Given the description of an element on the screen output the (x, y) to click on. 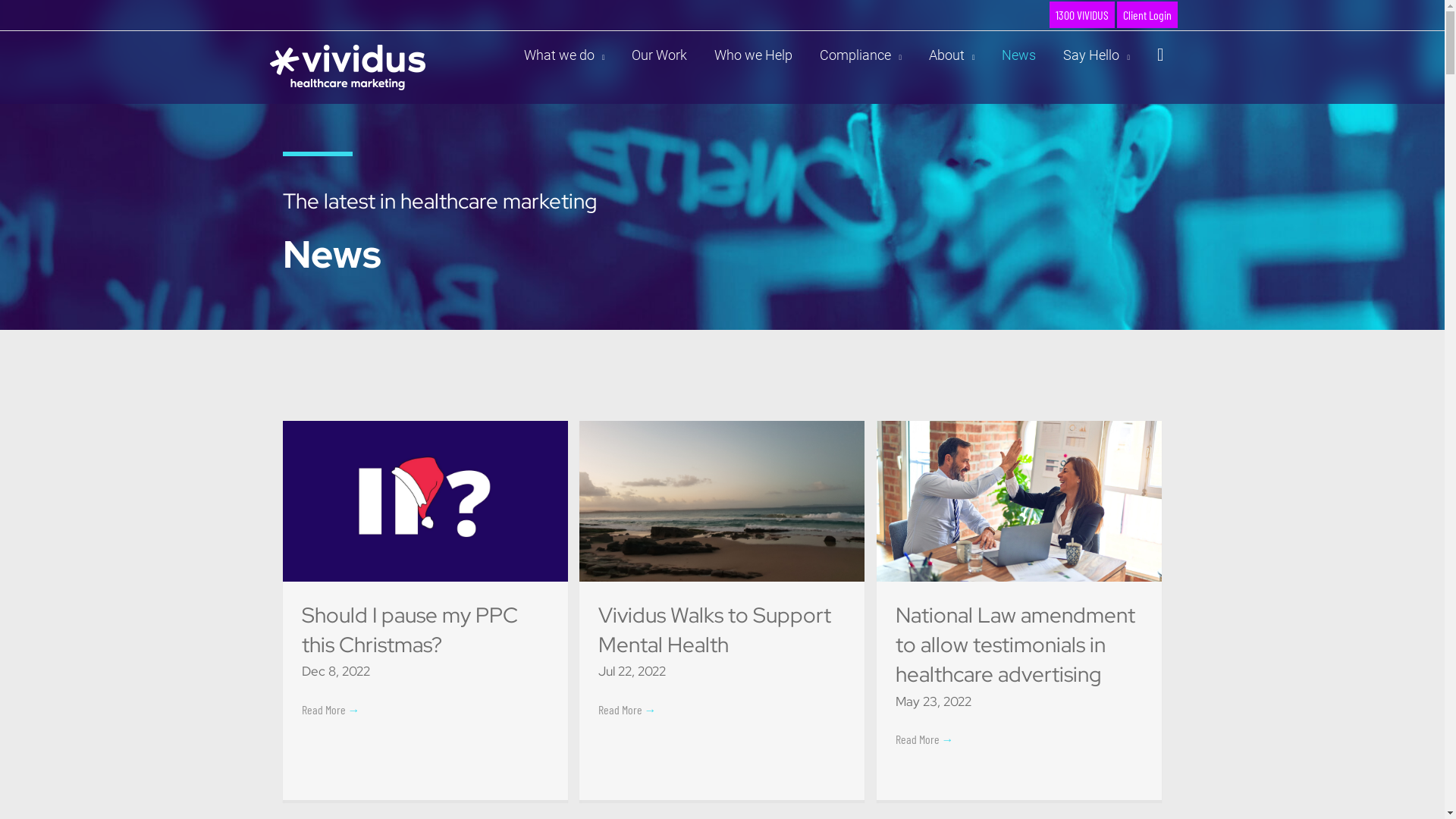
Compliance Element type: text (860, 55)
1300 VIVIDUS Element type: text (1081, 14)
Who we Help Element type: text (753, 55)
Vividus Walks to Support Mental Health Element type: hover (722, 499)
Vividus Walks to Support Mental Health Element type: text (713, 629)
Should I pause my PPC this Christmas? Element type: hover (424, 499)
What we do Element type: text (564, 55)
Search Element type: text (1160, 54)
About Element type: text (951, 55)
Should I pause my PPC this Christmas? Element type: text (409, 629)
Say Hello Element type: text (1096, 55)
Our Work Element type: text (659, 55)
Client Login Element type: text (1146, 14)
News Element type: text (1018, 55)
